Given the description of an element on the screen output the (x, y) to click on. 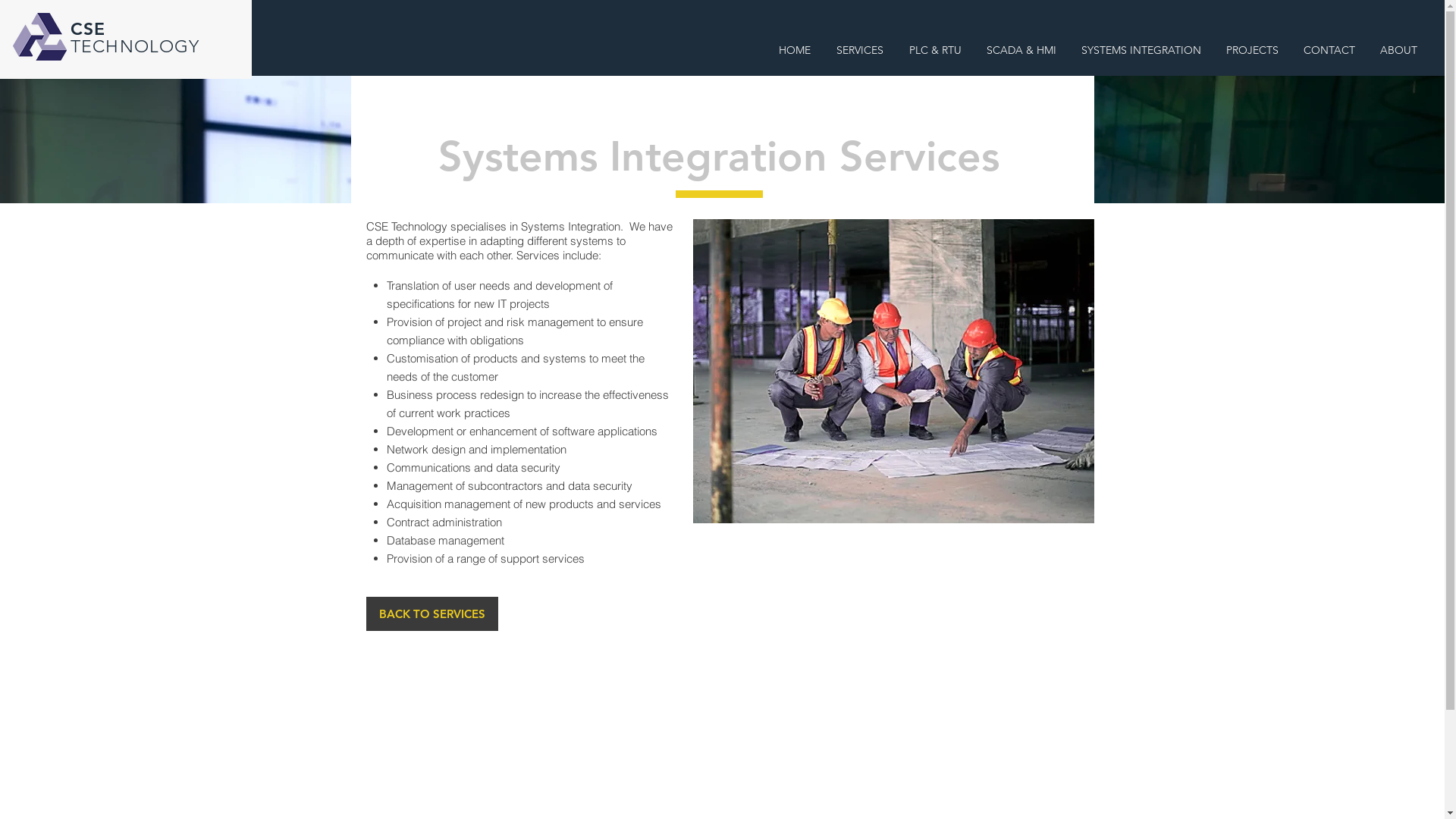
PLC & RTU Element type: text (934, 50)
SERVICES Element type: text (859, 50)
SYSTEMS INTEGRATION Element type: text (1140, 50)
CONTACT Element type: text (1328, 50)
CSE Logo - from Chris.png Element type: hover (39, 36)
SCADA & HMI Element type: text (1020, 50)
HOME Element type: text (794, 50)
BACK TO SERVICES Element type: text (431, 613)
CSE Element type: text (87, 28)
PROJECTS Element type: text (1251, 50)
TECHNOLOGY Element type: text (135, 46)
ABOUT Element type: text (1398, 50)
